Given the description of an element on the screen output the (x, y) to click on. 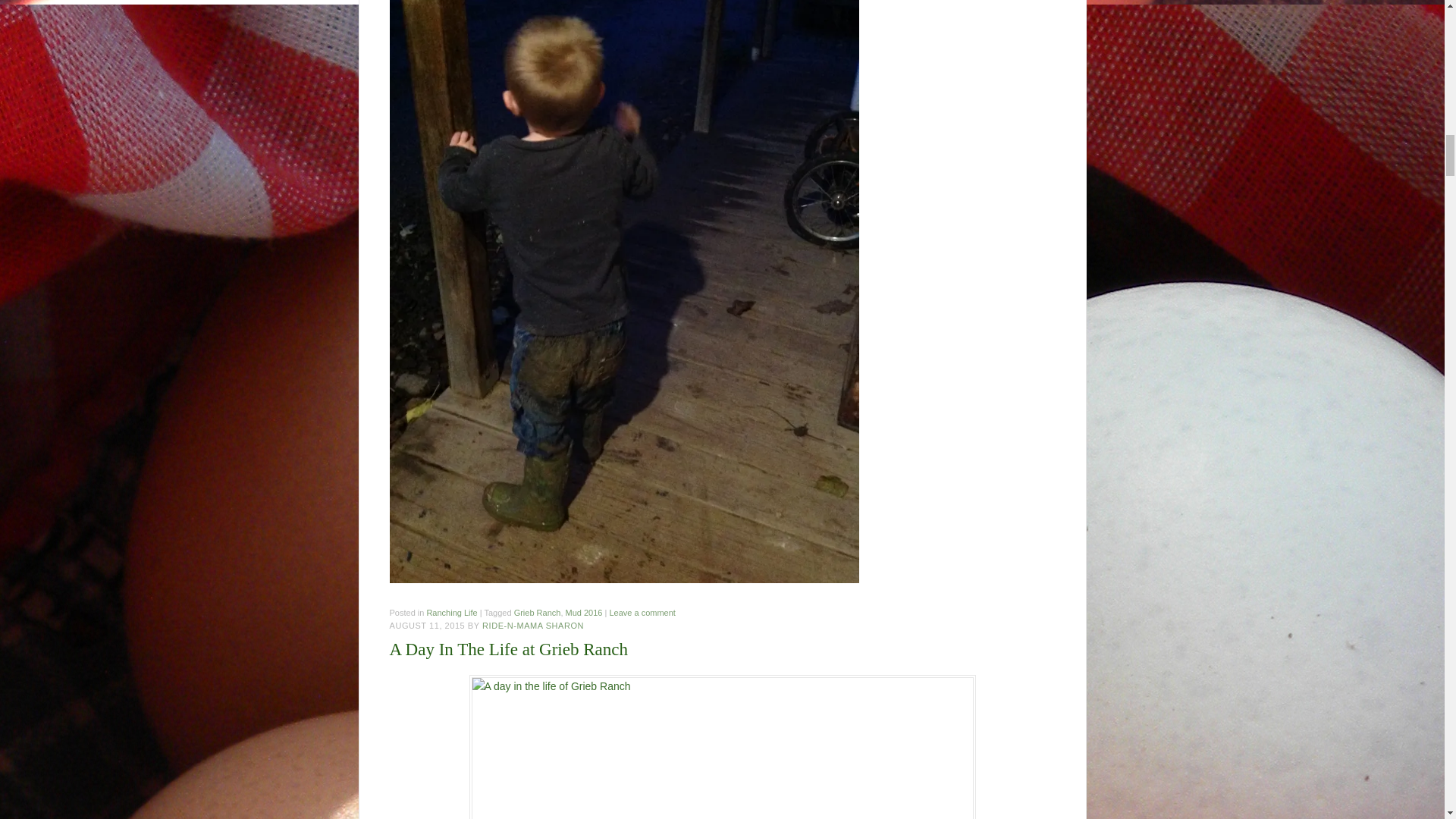
A Day In The Life at Grieb Ranch (508, 649)
AUGUST 11, 2015 (427, 624)
RIDE-N-MAMA SHARON (532, 624)
View all posts by ride-n-mama Sharon (532, 624)
Leave a comment (641, 612)
Mud 2016 (584, 612)
Ranching Life (451, 612)
Grieb Ranch (536, 612)
7:48 am (427, 624)
